Given the description of an element on the screen output the (x, y) to click on. 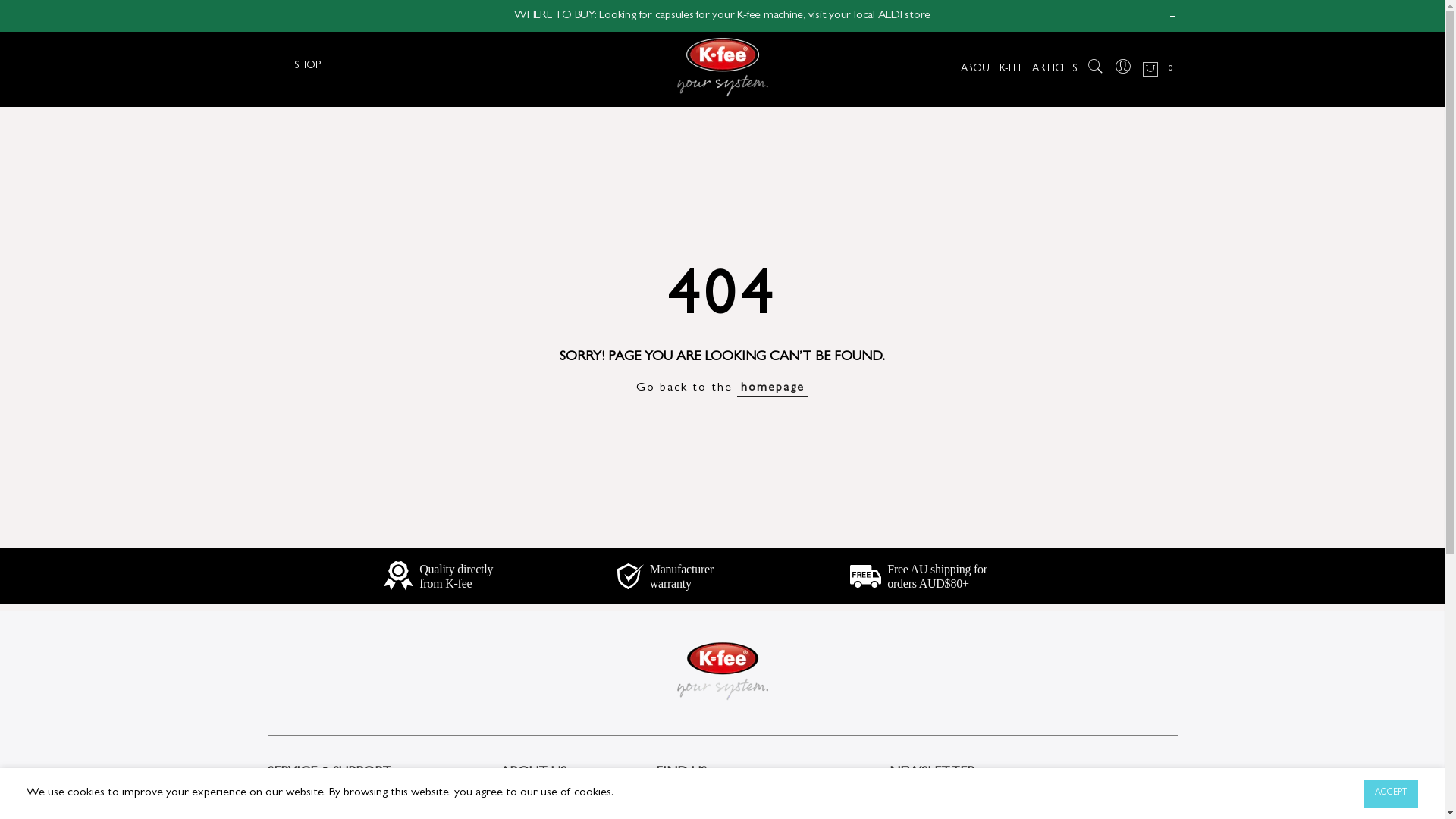
ARTICLES Element type: text (1054, 69)
ABOUT K-FEE Element type: text (992, 69)
SHOP Element type: text (314, 65)
My account Element type: text (294, 803)
About us Element type: text (523, 803)
0 Element type: text (1158, 69)
homepage Element type: text (772, 388)
ACCEPT Element type: text (1391, 793)
Instagram Element type: text (679, 803)
